Given the description of an element on the screen output the (x, y) to click on. 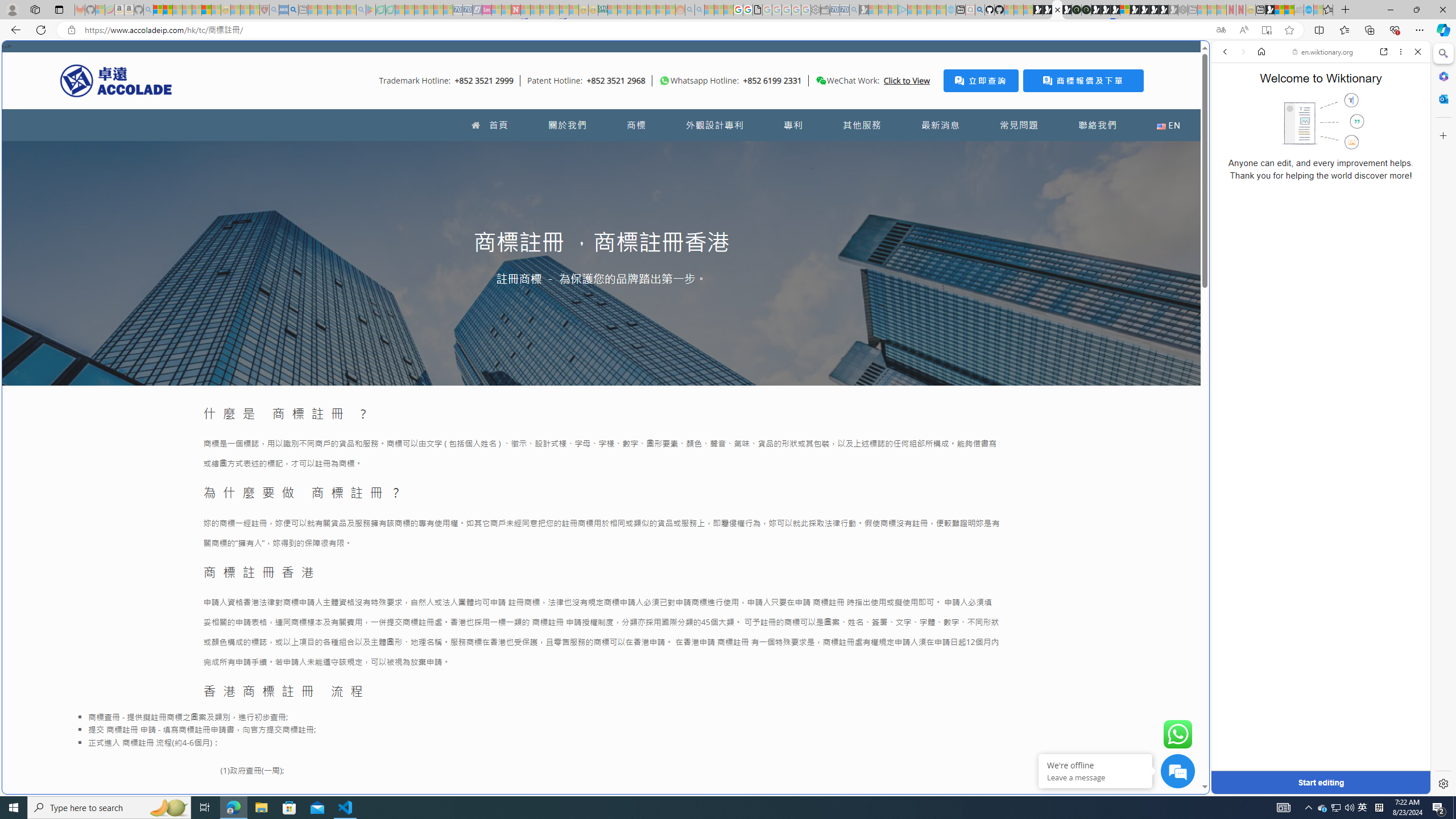
Cheap Hotels - Save70.com - Sleeping (467, 9)
